Given the description of an element on the screen output the (x, y) to click on. 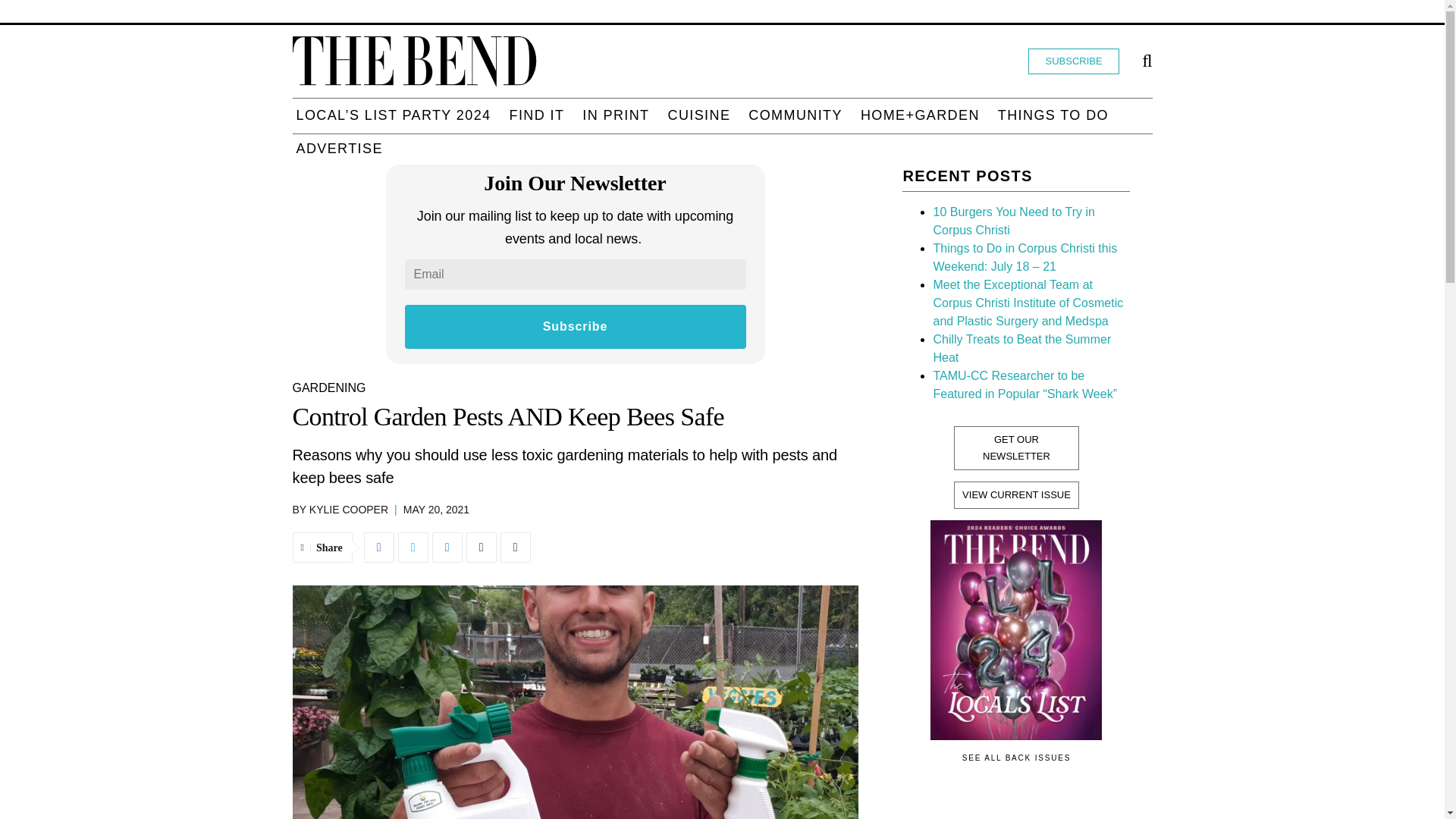
Find It (536, 114)
Cuisine (699, 114)
In Print (615, 114)
Local's List Party 2024 (393, 114)
